Given the description of an element on the screen output the (x, y) to click on. 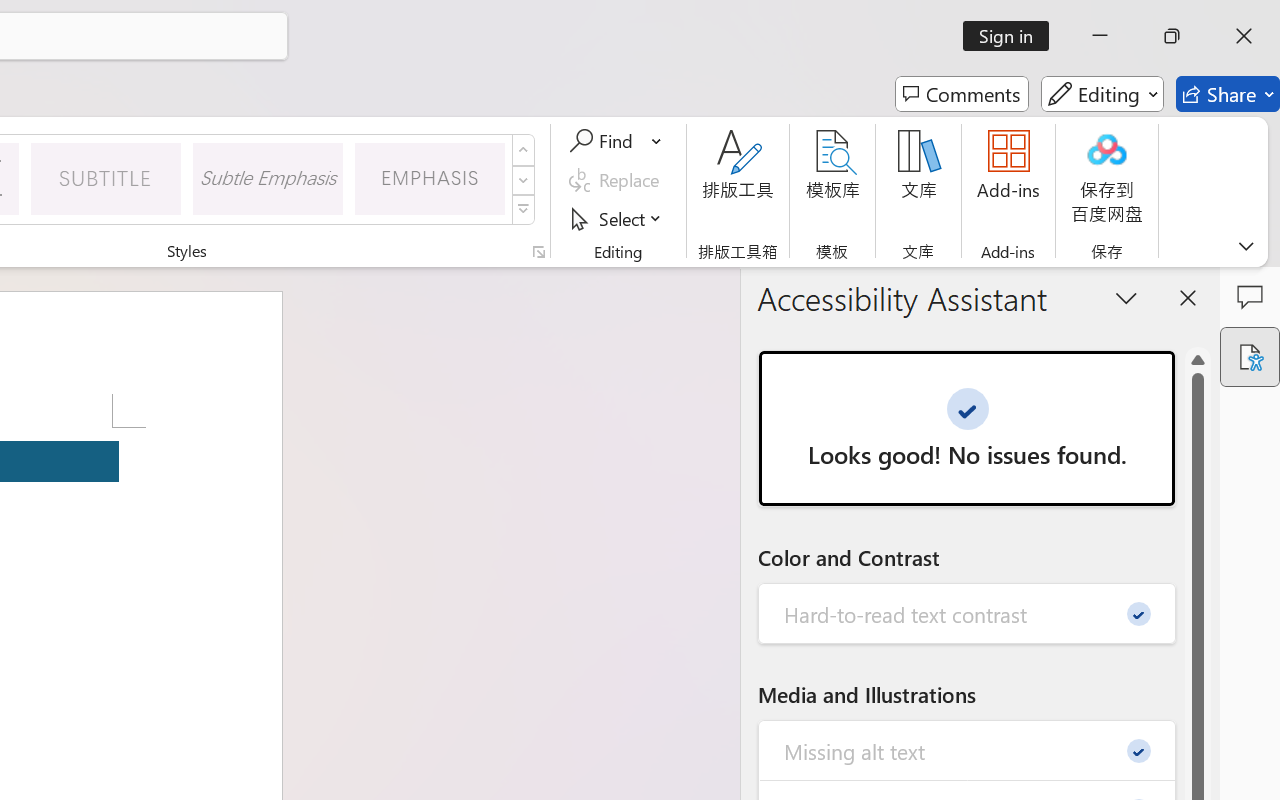
Emphasis (429, 178)
Line up (1197, 359)
Subtle Emphasis (267, 178)
Hard-to-read text contrast - 0 (967, 613)
Missing alt text - 0 (967, 750)
Editing (1101, 94)
Accessibility Assistant (1249, 357)
